Given the description of an element on the screen output the (x, y) to click on. 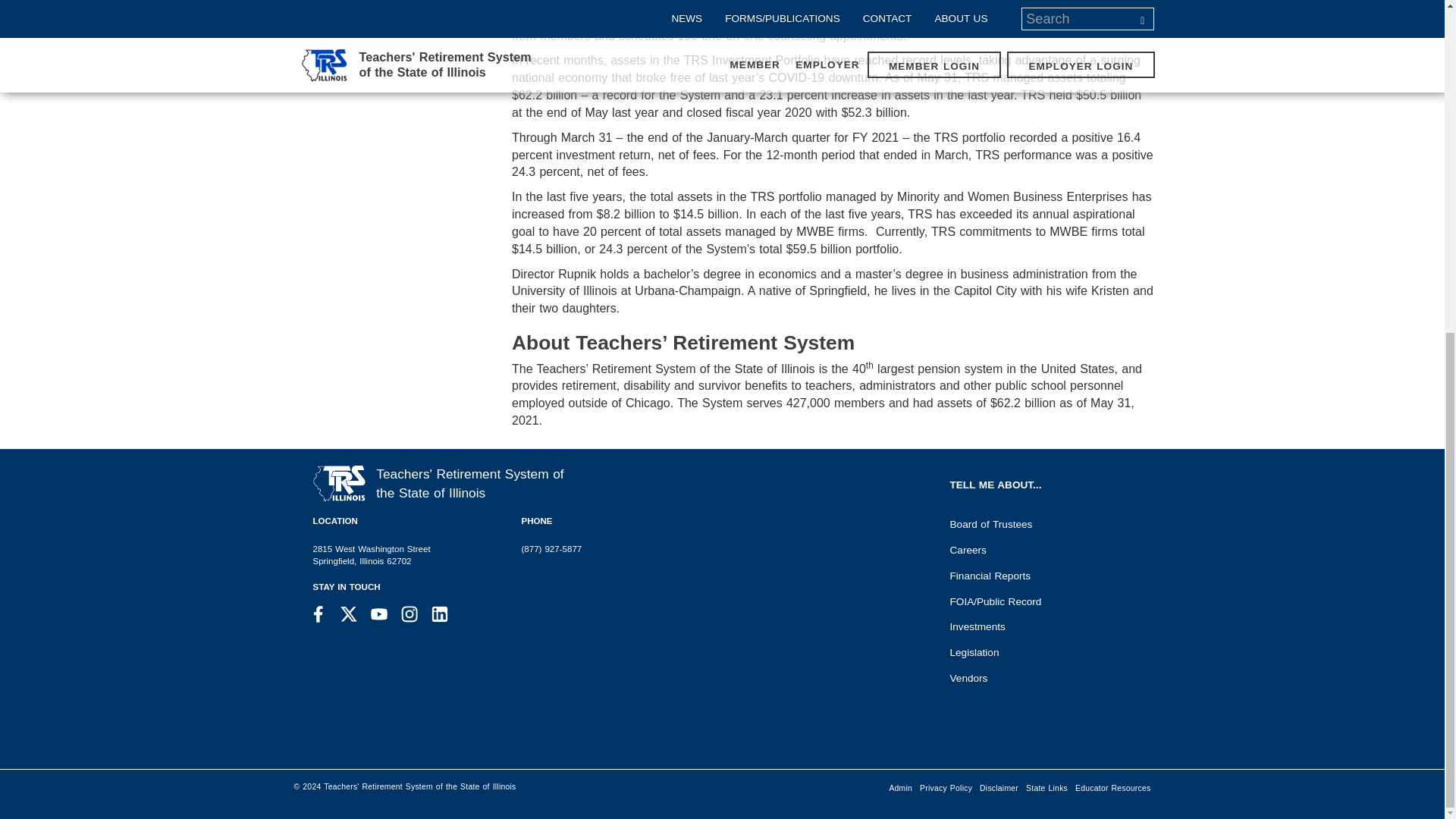
Twitter (348, 613)
Financial Reports (1045, 572)
Board of Trustees (1045, 520)
Financial Reports (1045, 572)
Educator Resources (1112, 782)
Investments (1045, 623)
Disclaimer (998, 782)
Privacy Policy (945, 782)
TRS footer logo (339, 483)
LinkedIn (439, 613)
Vendors (1045, 674)
State Links (1046, 782)
Careers (1045, 546)
Board of Trustees (1045, 520)
Careers (1045, 546)
